Given the description of an element on the screen output the (x, y) to click on. 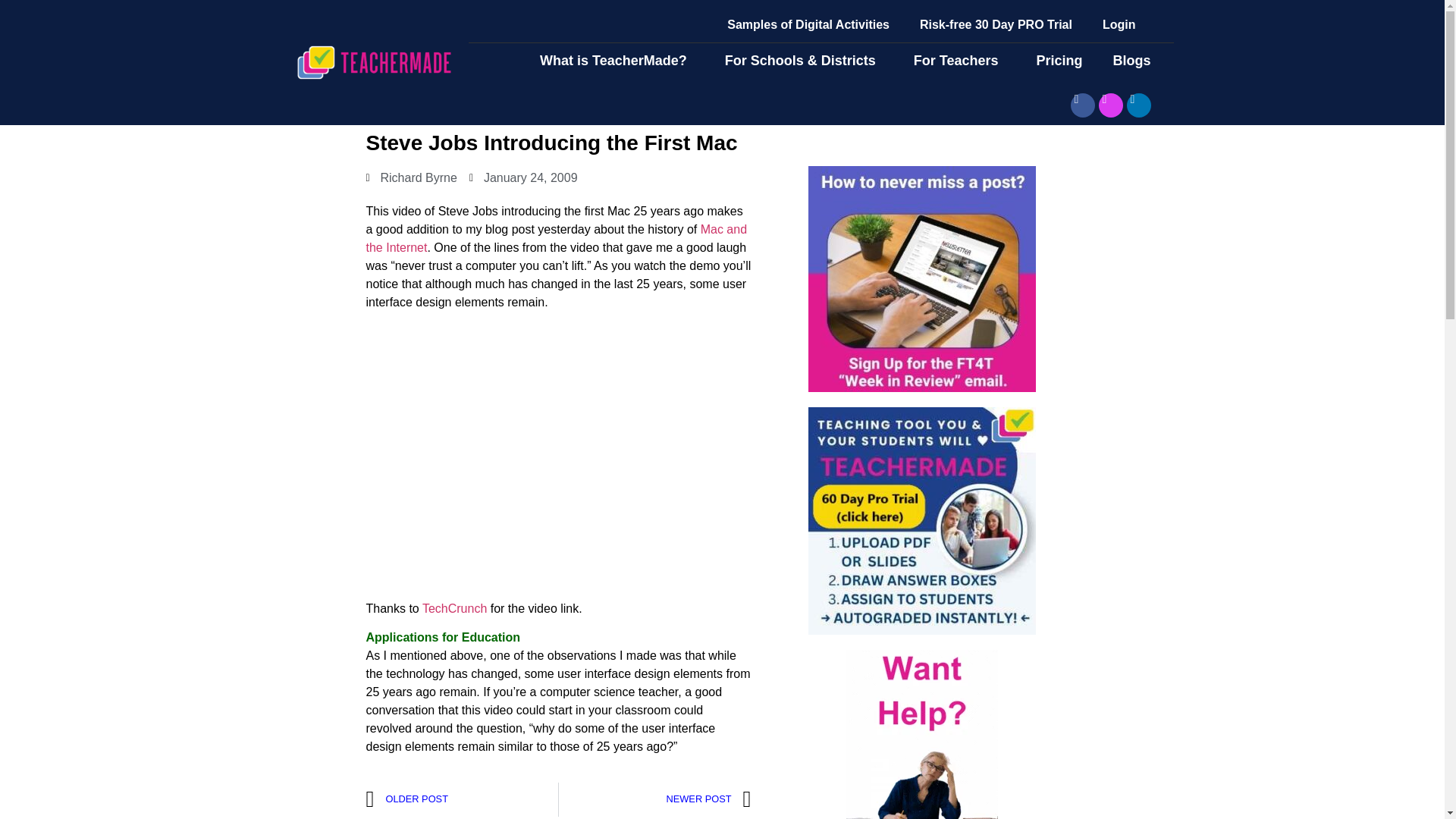
Pricing (1058, 60)
Risk-free 30 Day PRO Trial (995, 24)
Samples of Digital Activities (807, 24)
For Teachers (960, 60)
Blogs (1135, 60)
What is TeacherMade? (617, 60)
Login (1119, 24)
